Given the description of an element on the screen output the (x, y) to click on. 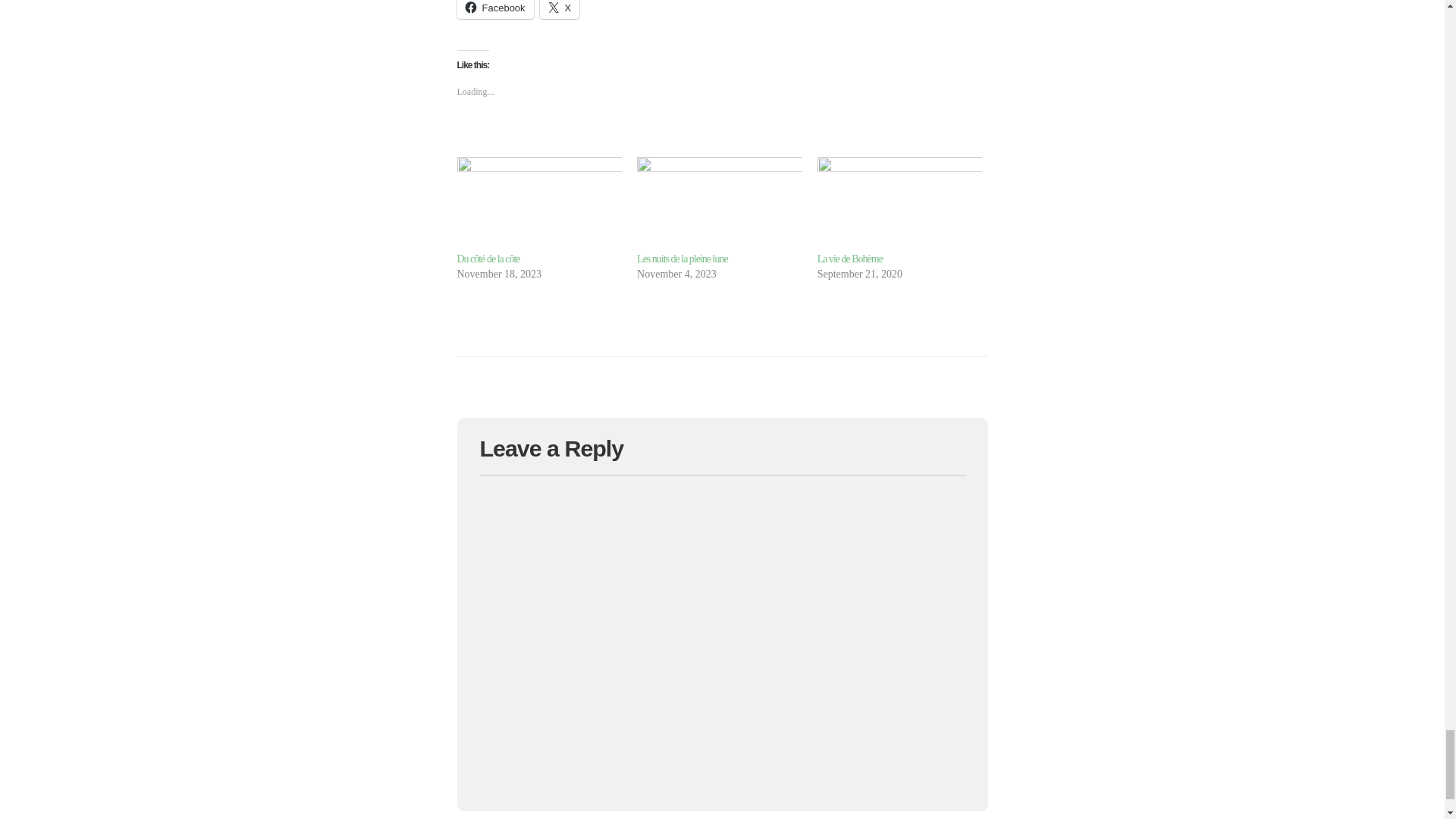
Les nuits de la pleine lune (719, 203)
Les nuits de la pleine lune (682, 258)
Click to share on Facebook (494, 9)
Click to share on X (559, 9)
X (559, 9)
Les nuits de la pleine lune (682, 258)
Facebook (494, 9)
